Given the description of an element on the screen output the (x, y) to click on. 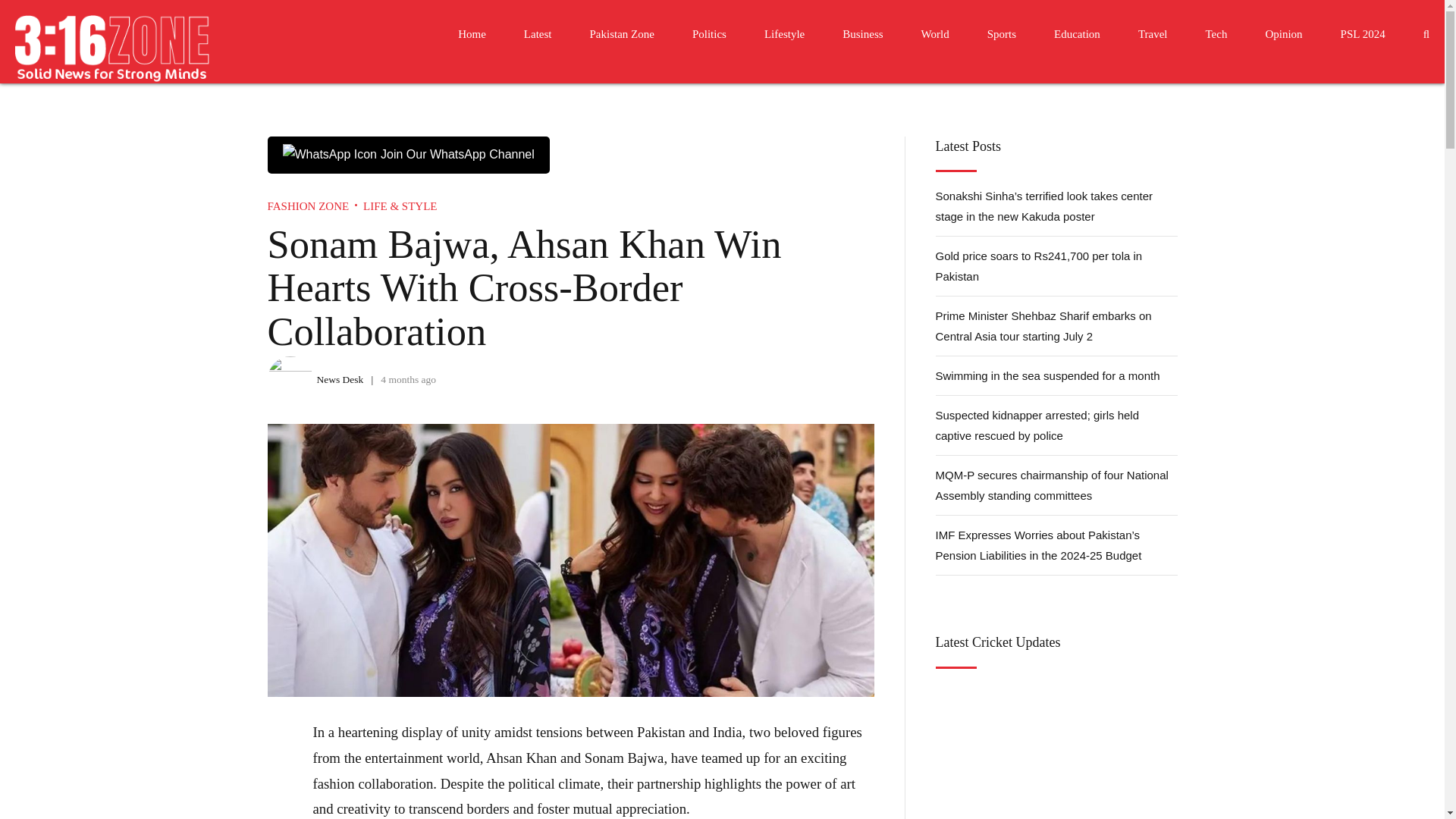
Pakistan Zone (621, 33)
Join Our WhatsApp Channel (407, 154)
Swimming in the sea suspended for a month (1056, 375)
Join Our WhatsApp Channel (407, 154)
Gold price soars to Rs241,700 per tola in Pakistan (1056, 265)
News Desk (340, 378)
FASHION ZONE (307, 205)
